Given the description of an element on the screen output the (x, y) to click on. 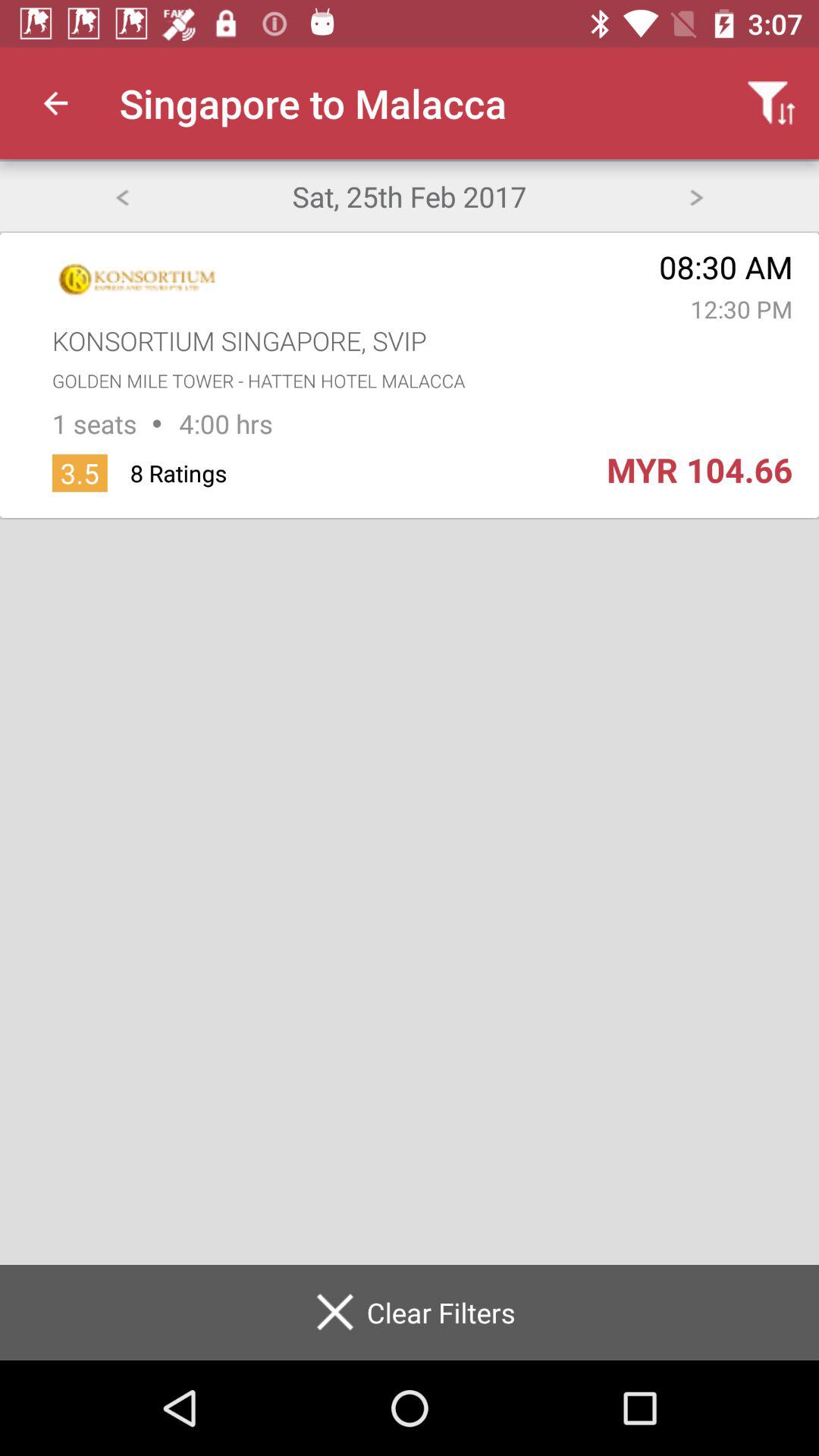
forward one day (696, 196)
